Given the description of an element on the screen output the (x, y) to click on. 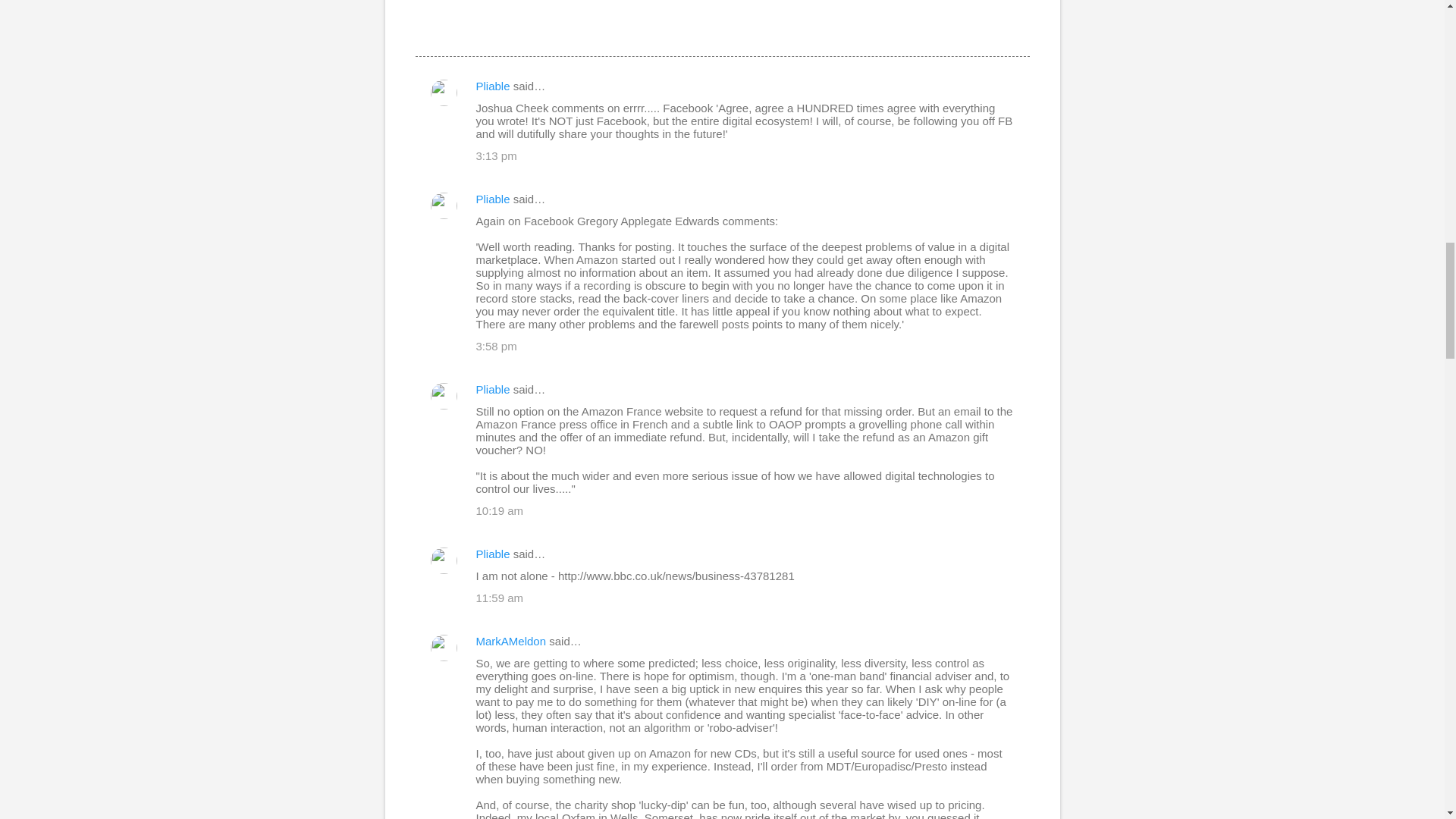
comment permalink (496, 155)
3:13 pm (496, 155)
Email Post (423, 29)
Pliable (493, 85)
